Given the description of an element on the screen output the (x, y) to click on. 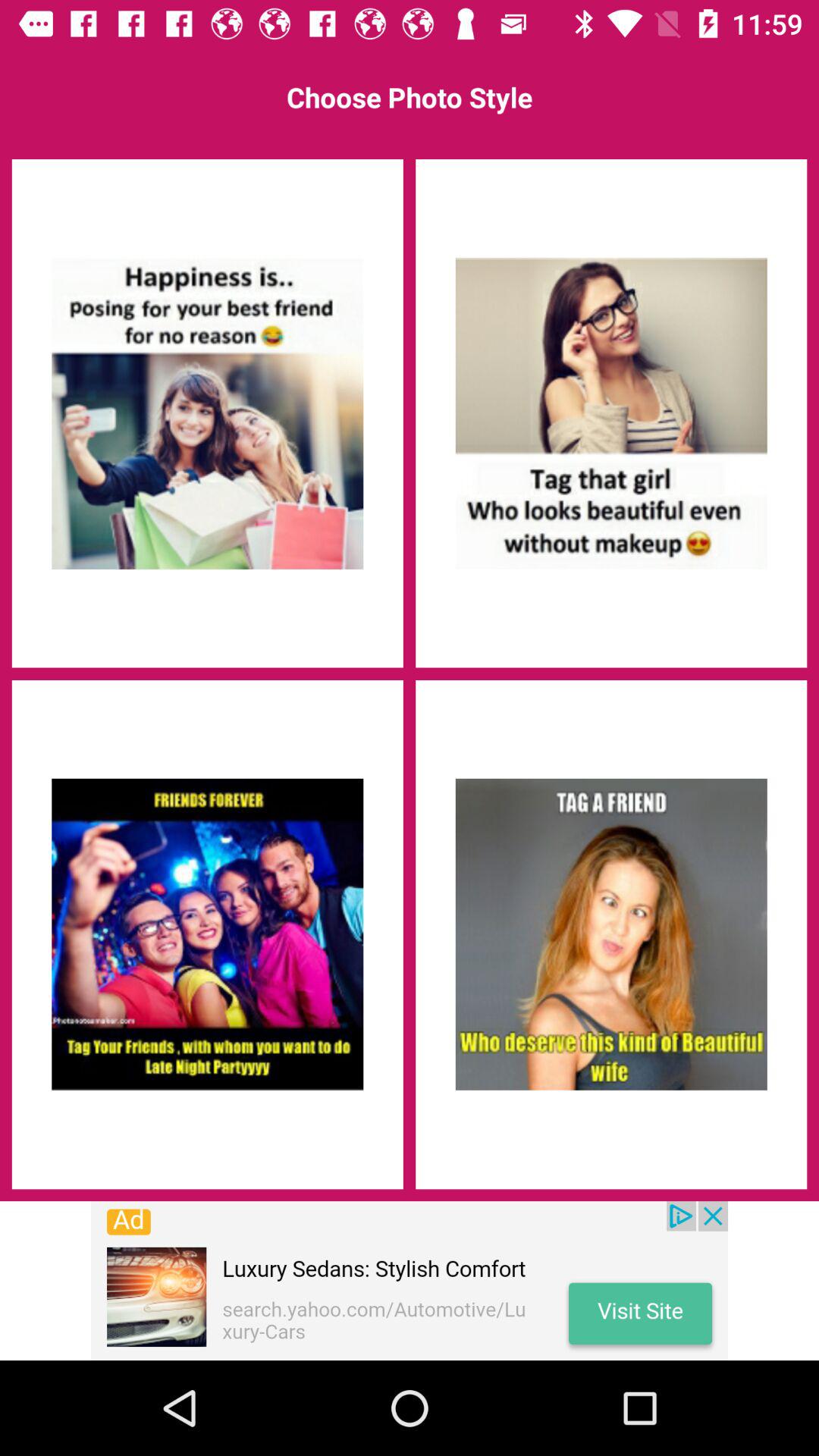
open advertisement (409, 1280)
